Given the description of an element on the screen output the (x, y) to click on. 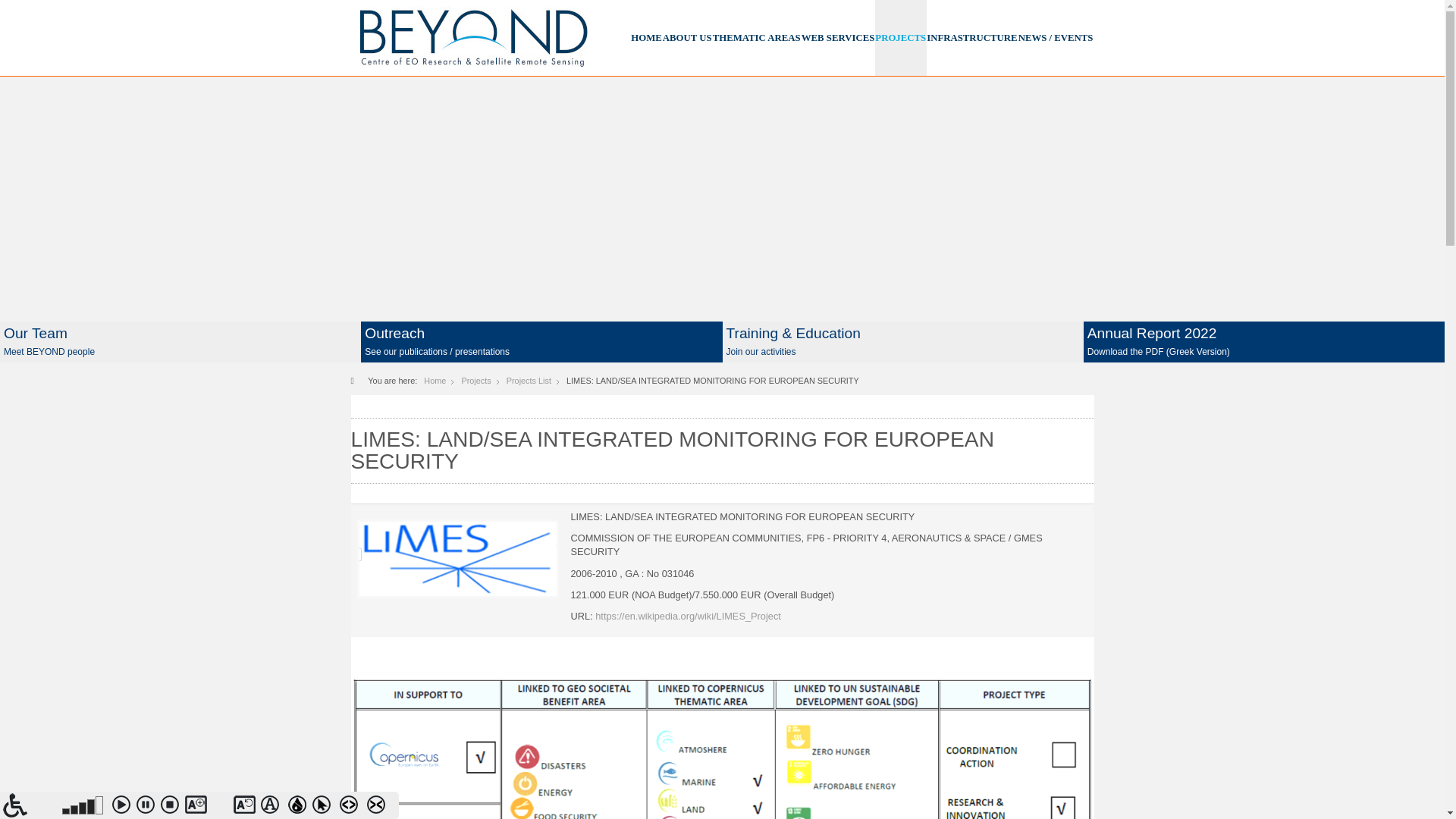
THEMATIC AREAS (756, 38)
 - Pause -  (148, 807)
 - Stop -  (172, 807)
INFRASTRUCTURE (971, 38)
 - Dyslexic font -  (272, 807)
 - Decrease -  (220, 807)
WEB SERVICES (838, 38)
 - Reset -  (244, 807)
 - Screen Reader -  (30, 805)
 - Increase -  (196, 807)
